Given the description of an element on the screen output the (x, y) to click on. 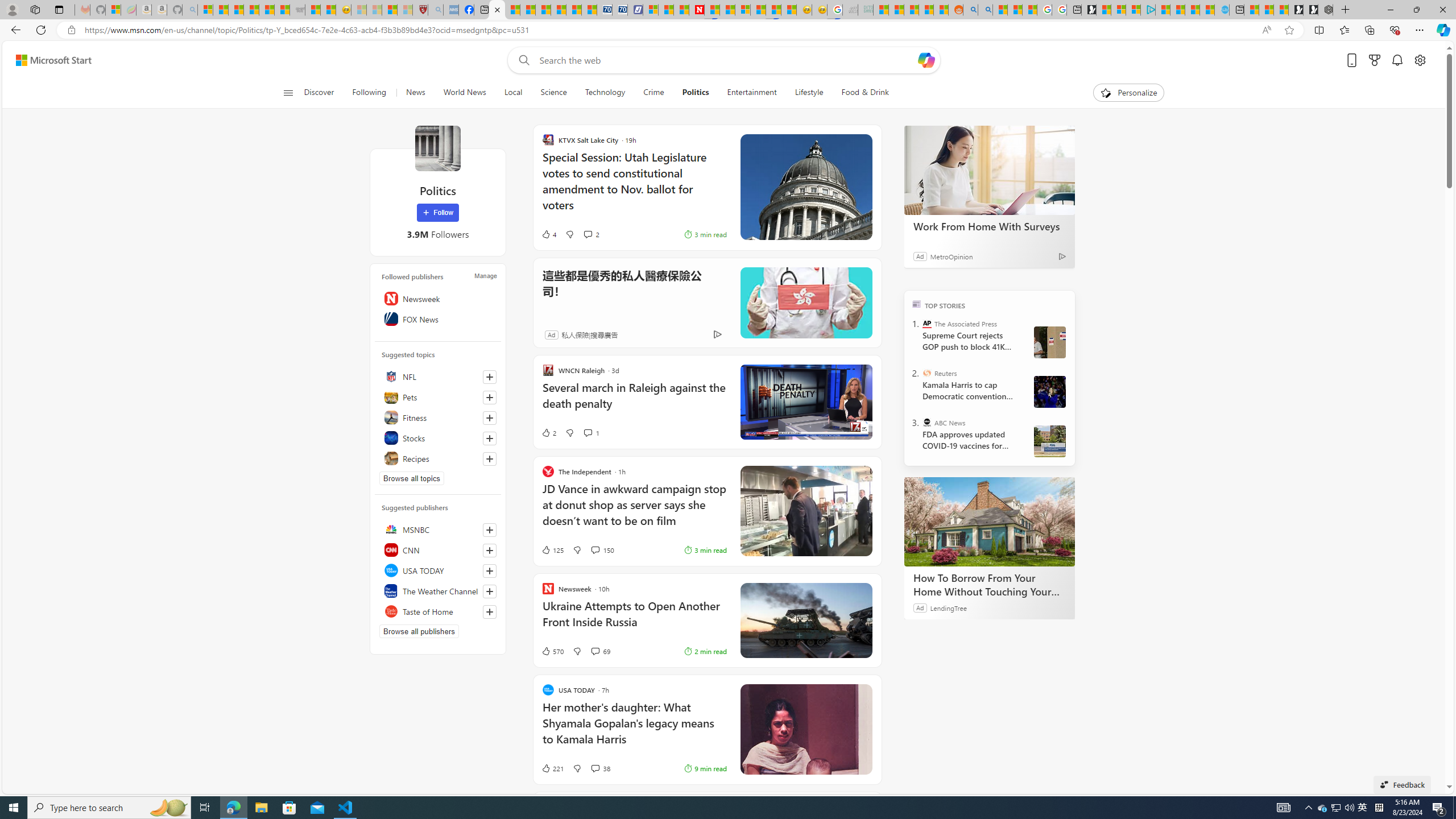
Stocks (437, 437)
Utah sues federal government - Search (984, 9)
MetroOpinion (951, 256)
